Given the description of an element on the screen output the (x, y) to click on. 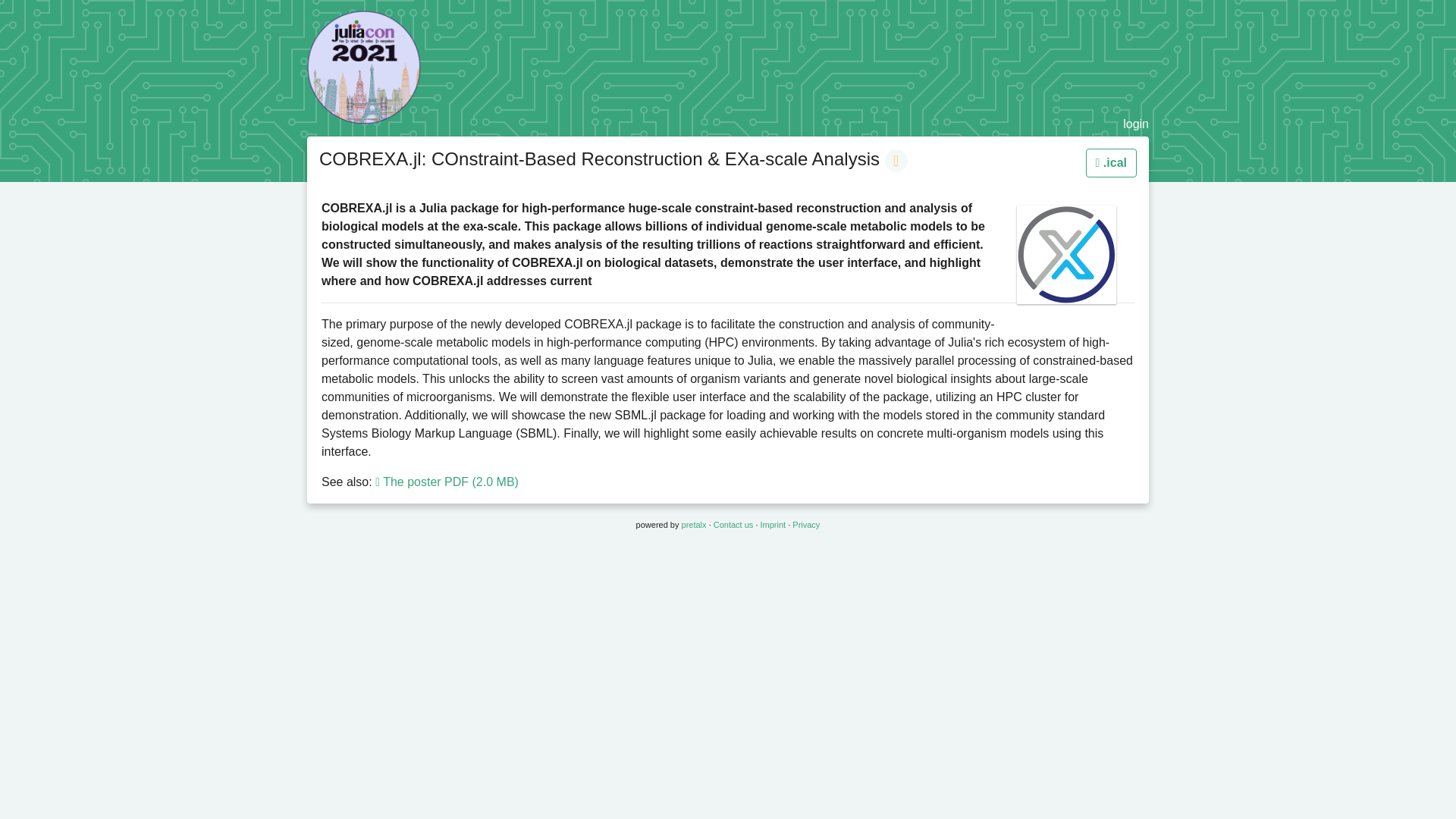
Contact us (733, 524)
Privacy (805, 524)
login (1135, 124)
pretalx (693, 524)
Imprint (773, 524)
.ical (1111, 162)
